Given the description of an element on the screen output the (x, y) to click on. 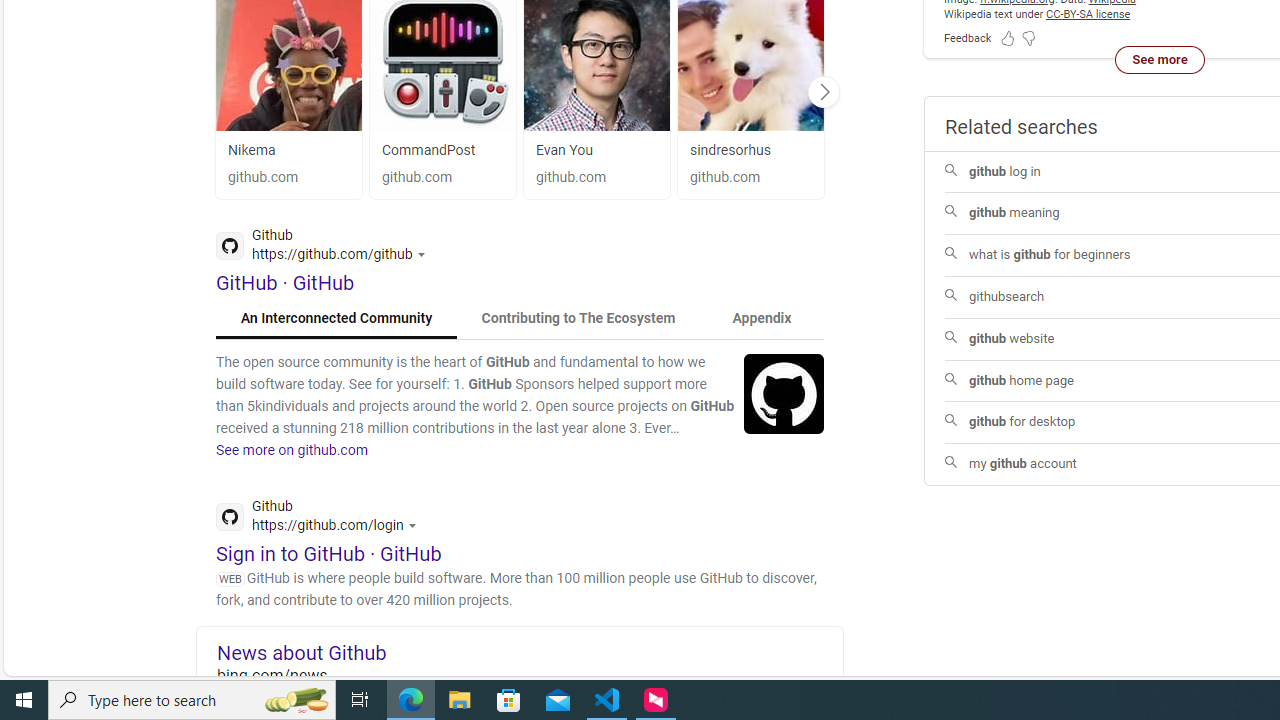
Actions for this site (415, 524)
Contributing to The Ecosystem (578, 318)
github.com (750, 178)
An Interconnected Community (337, 318)
CommandPost (442, 150)
Nikema (288, 150)
bing.com/news (530, 674)
sindresorhus (729, 150)
Click to scroll right (823, 91)
